Given the description of an element on the screen output the (x, y) to click on. 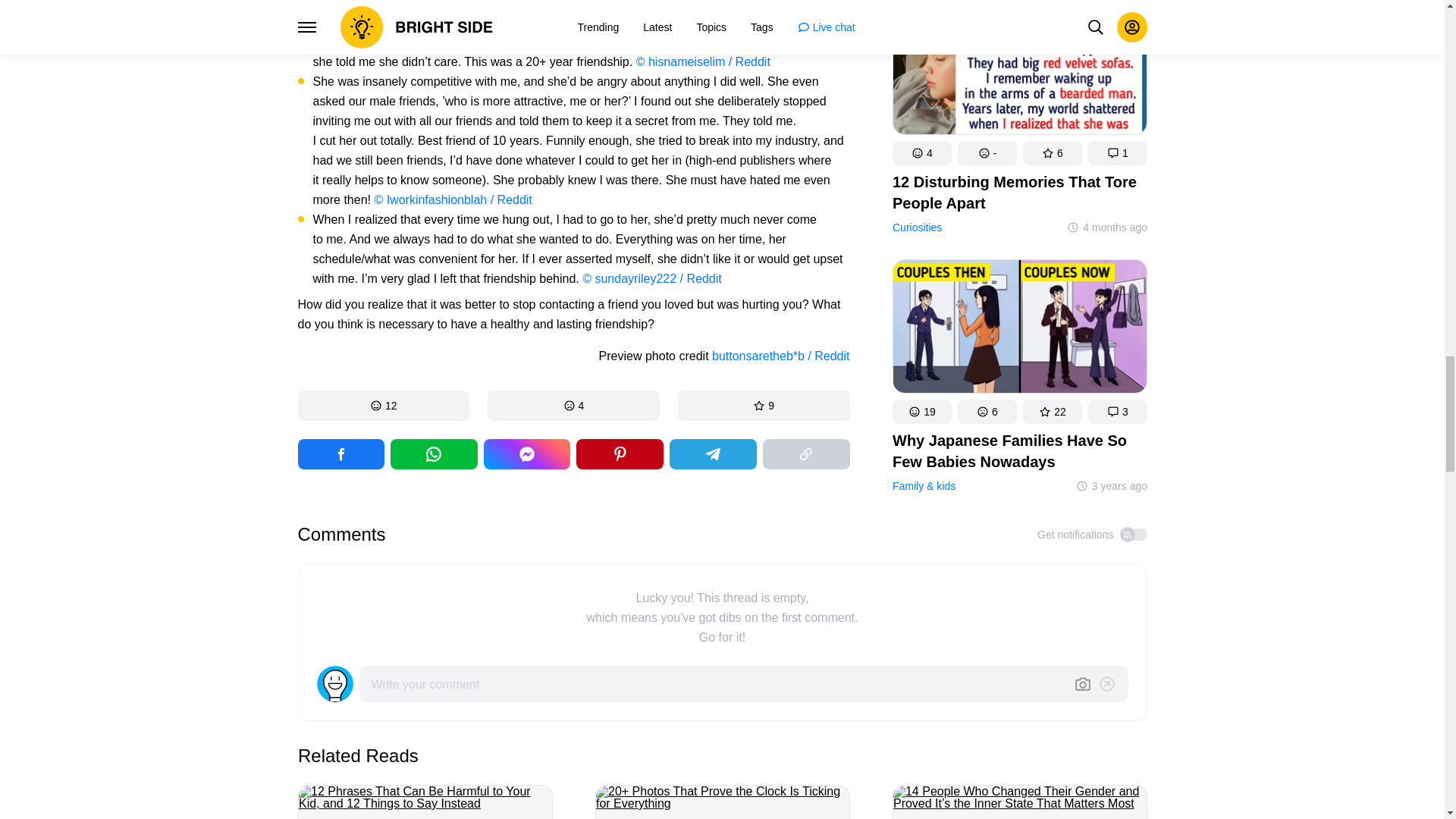
4 (573, 405)
9 (764, 405)
12 (382, 405)
